Given the description of an element on the screen output the (x, y) to click on. 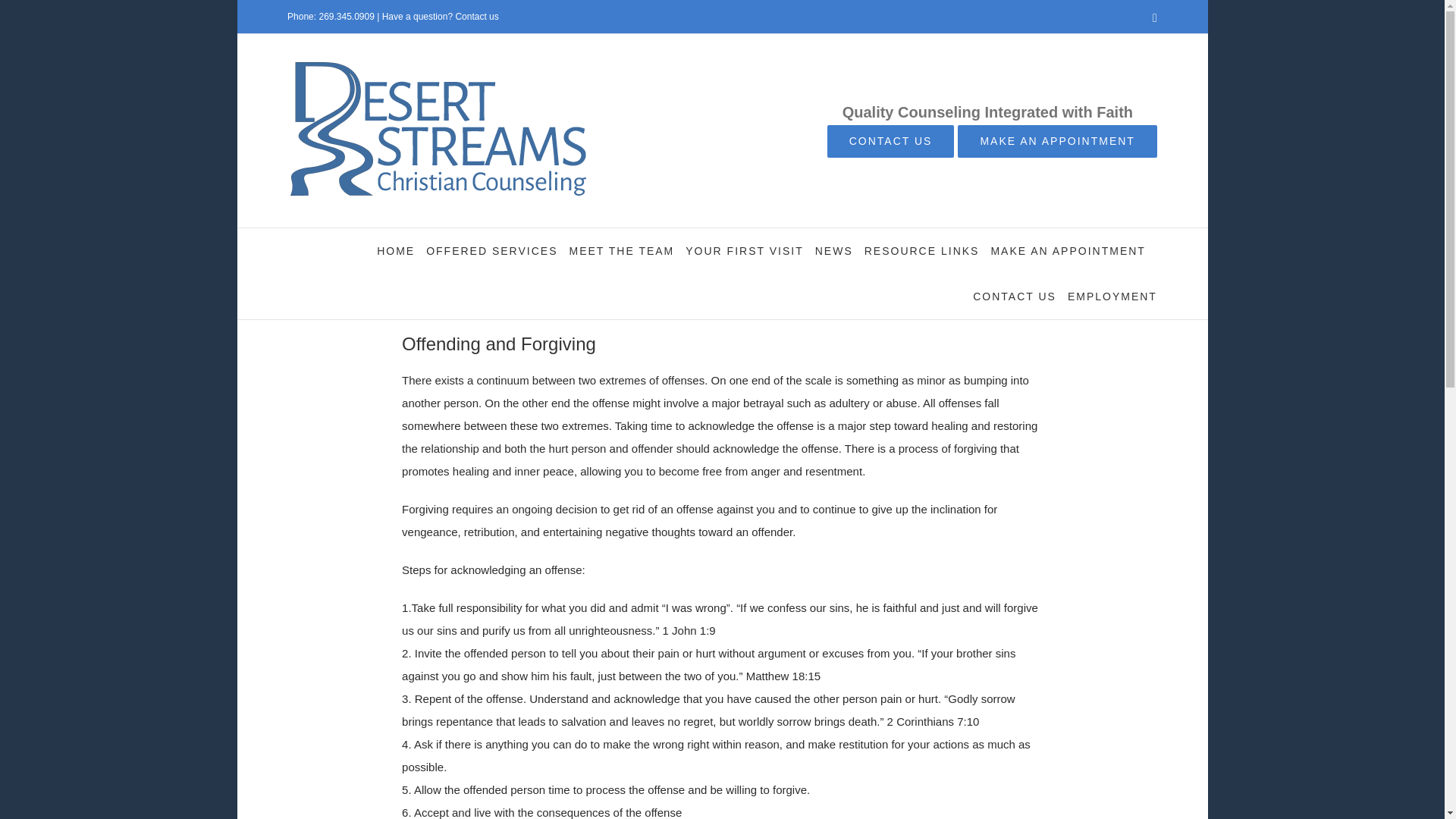
YOUR FIRST VISIT (744, 250)
MAKE AN APPOINTMENT (1067, 250)
CONTACT US (891, 141)
RESOURCE LINKS (921, 250)
269.345.0909 (346, 16)
Contact us (475, 16)
EMPLOYMENT (1112, 296)
MAKE AN APPOINTMENT (1057, 141)
CONTACT US (1014, 296)
OFFERED SERVICES (491, 250)
MEET THE TEAM (621, 250)
